Given the description of an element on the screen output the (x, y) to click on. 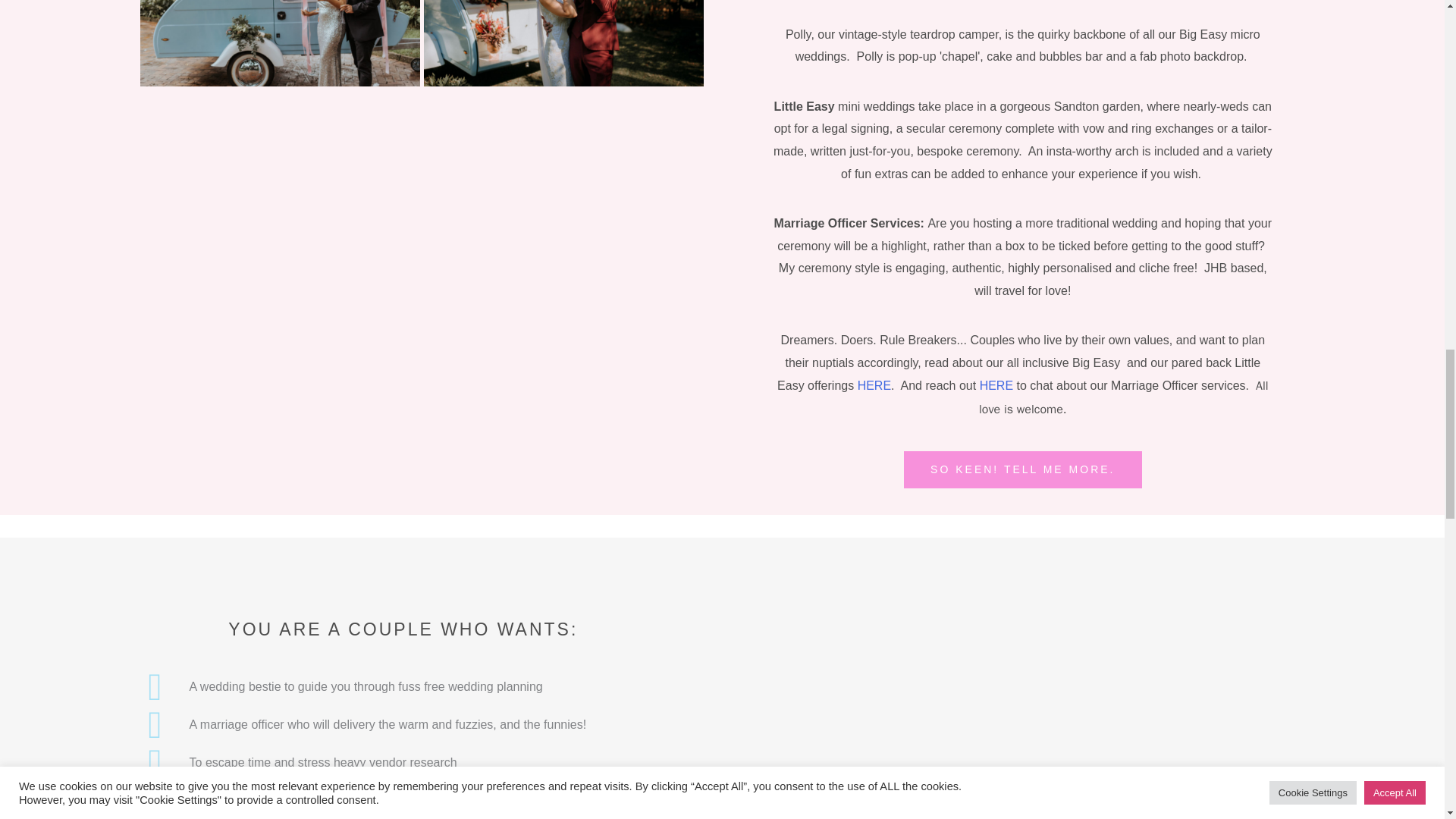
M and O (279, 43)
Modern Weddings (563, 43)
SO KEEN! TELL ME MORE. (1022, 469)
HERE (874, 385)
HERE (996, 385)
